Given the description of an element on the screen output the (x, y) to click on. 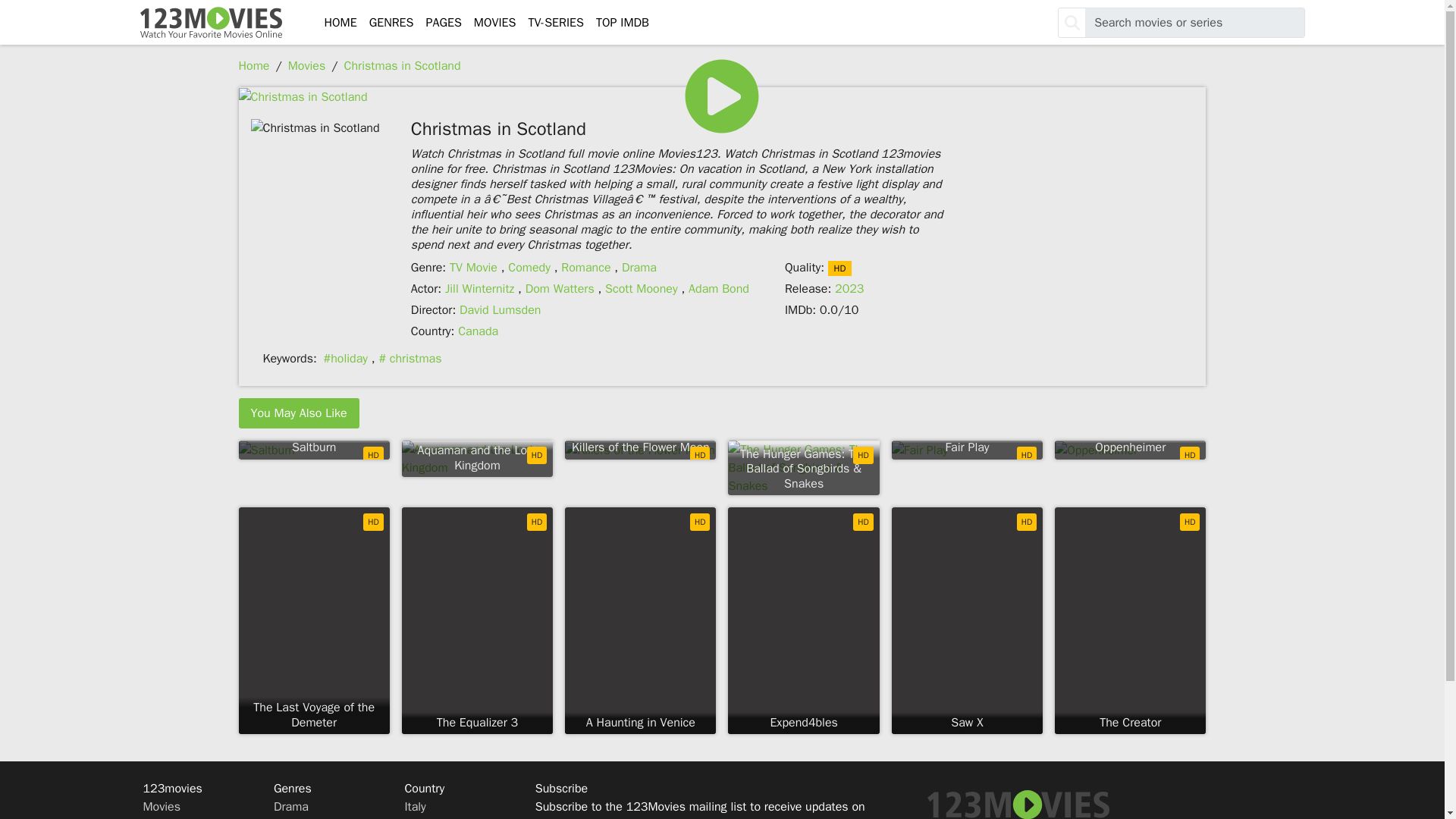
TOP IMDB (622, 22)
PAGES (443, 22)
Movies (307, 65)
TV-SERIES (555, 22)
HOME (340, 22)
123Movies (210, 22)
Christmas in Scotland (402, 65)
GENRES (391, 22)
MOVIES (494, 22)
Home (253, 65)
